Given the description of an element on the screen output the (x, y) to click on. 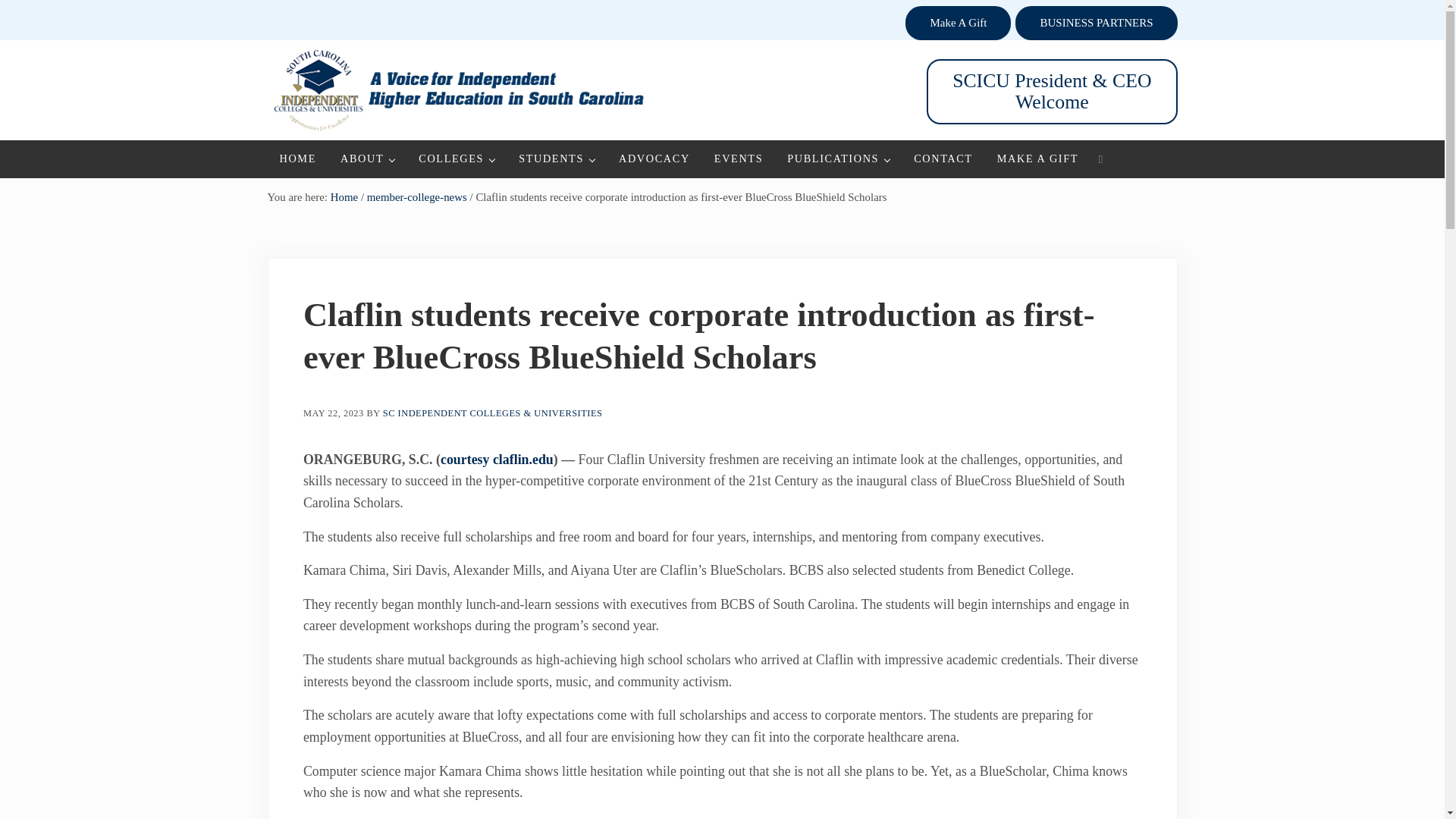
COLLEGES (456, 158)
HOME (297, 158)
Make A Gift (957, 22)
BUSINESS PARTNERS (1095, 22)
ABOUT (367, 158)
